Given the description of an element on the screen output the (x, y) to click on. 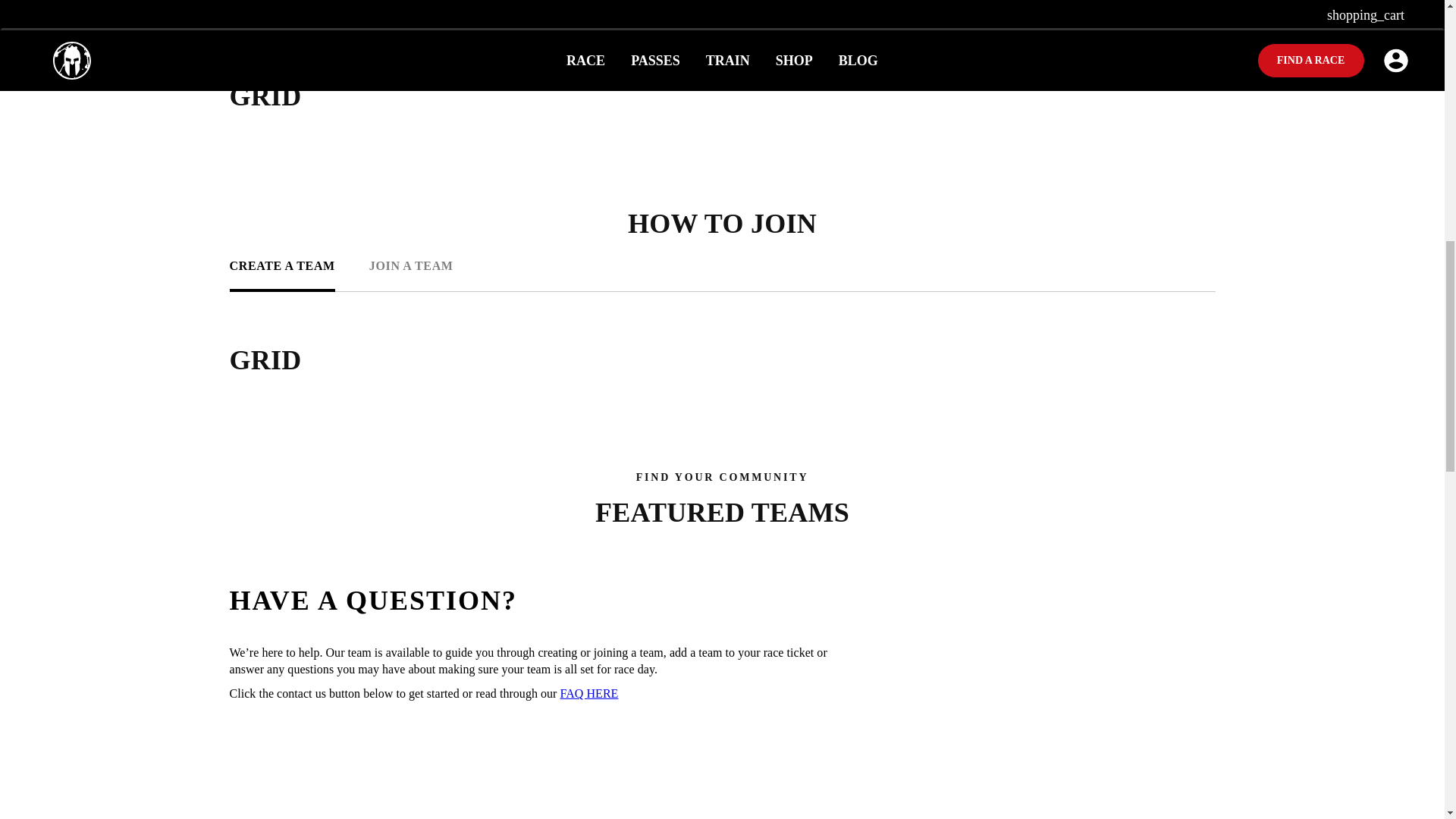
FAQ (588, 693)
